Given the description of an element on the screen output the (x, y) to click on. 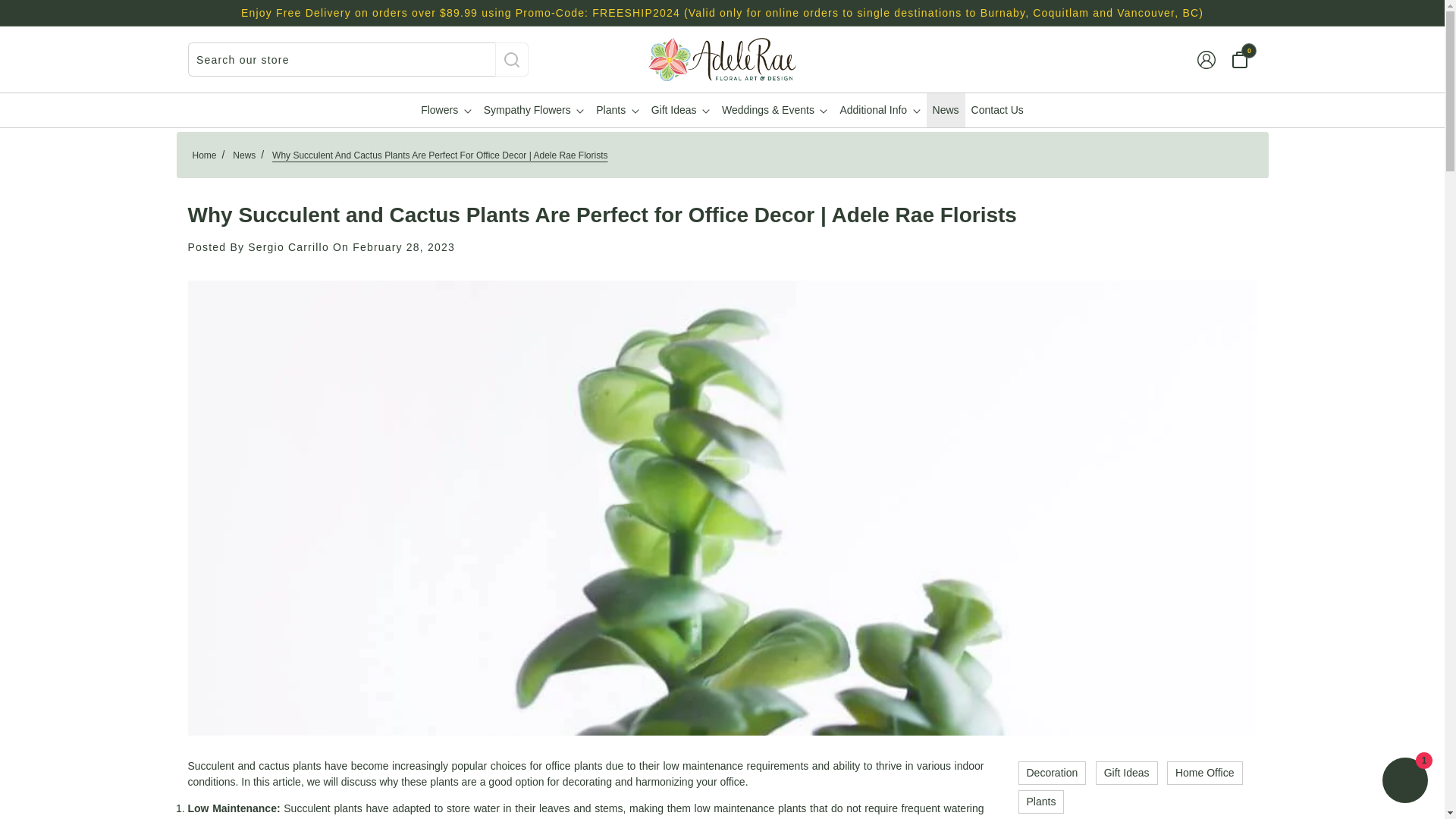
Flowers (445, 110)
0 (1239, 59)
Plants (617, 110)
Gift Ideas (680, 110)
Shopify online store chat (1404, 781)
Sympathy Flowers (534, 110)
